Given the description of an element on the screen output the (x, y) to click on. 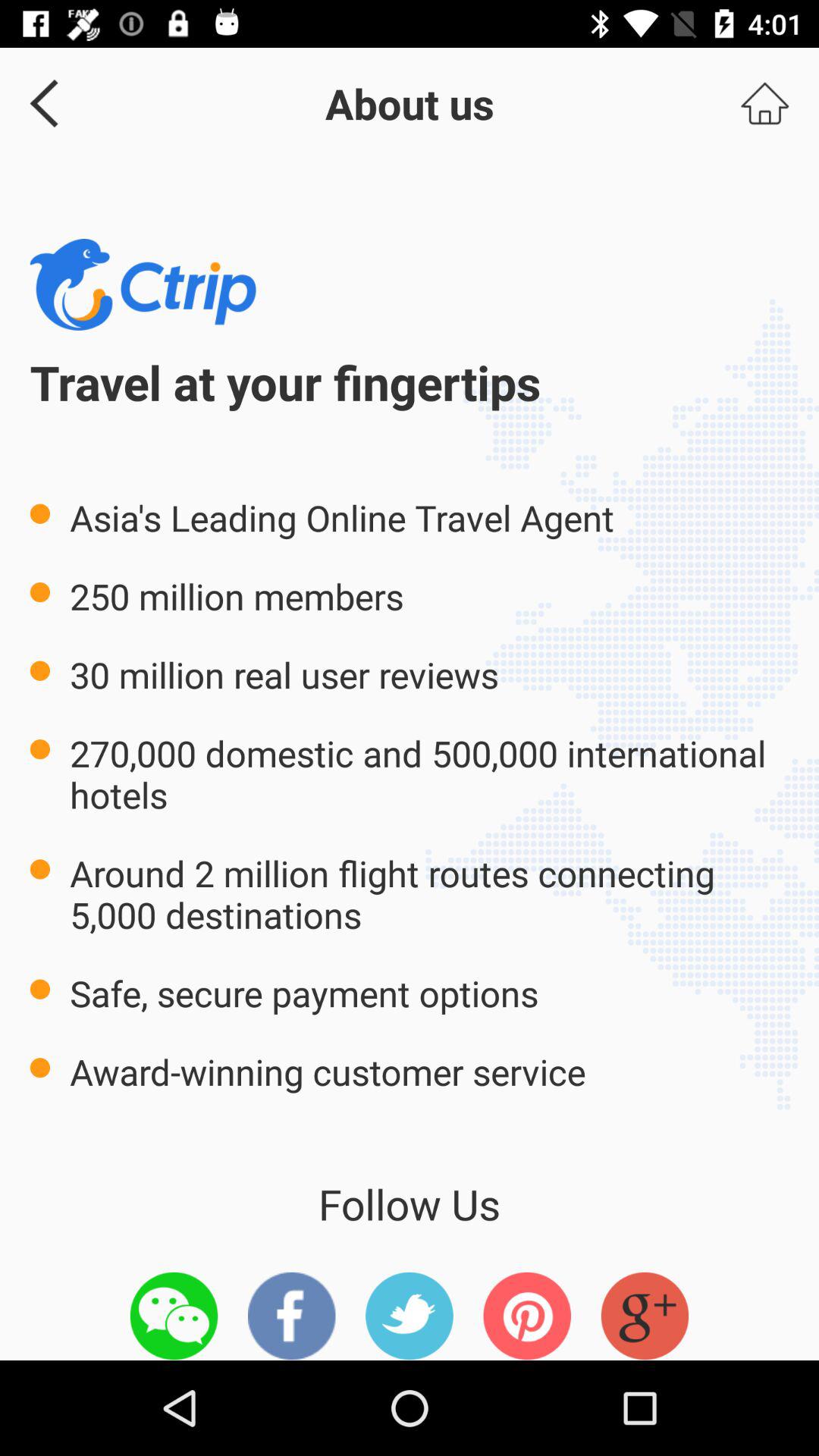
open the icon at the bottom right corner (644, 1315)
